Given the description of an element on the screen output the (x, y) to click on. 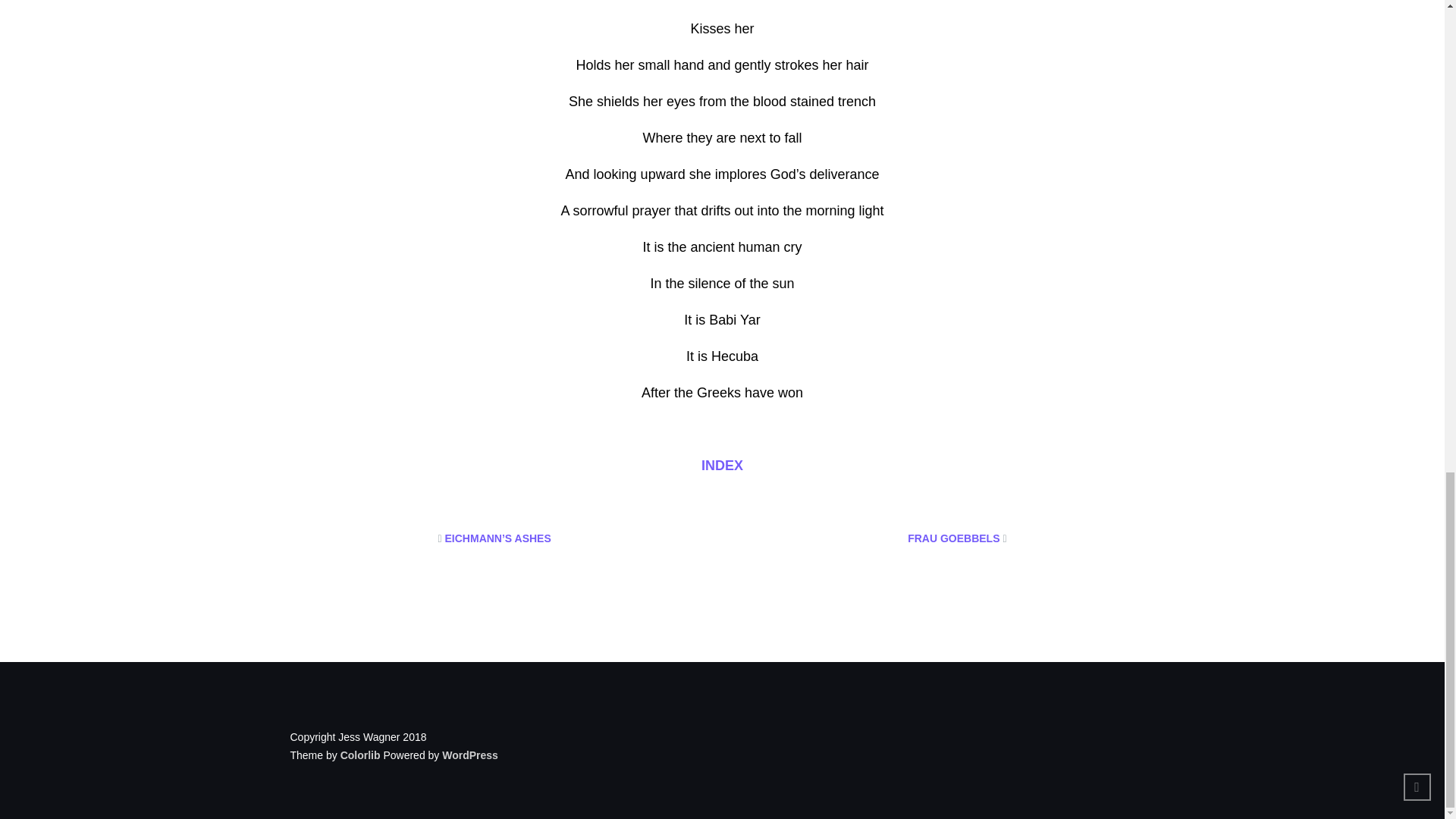
FRAU GOEBBELS (952, 538)
Colorlib (360, 755)
INDEX (721, 465)
WordPress (469, 755)
Colorlib (360, 755)
WordPress.org (469, 755)
